Given the description of an element on the screen output the (x, y) to click on. 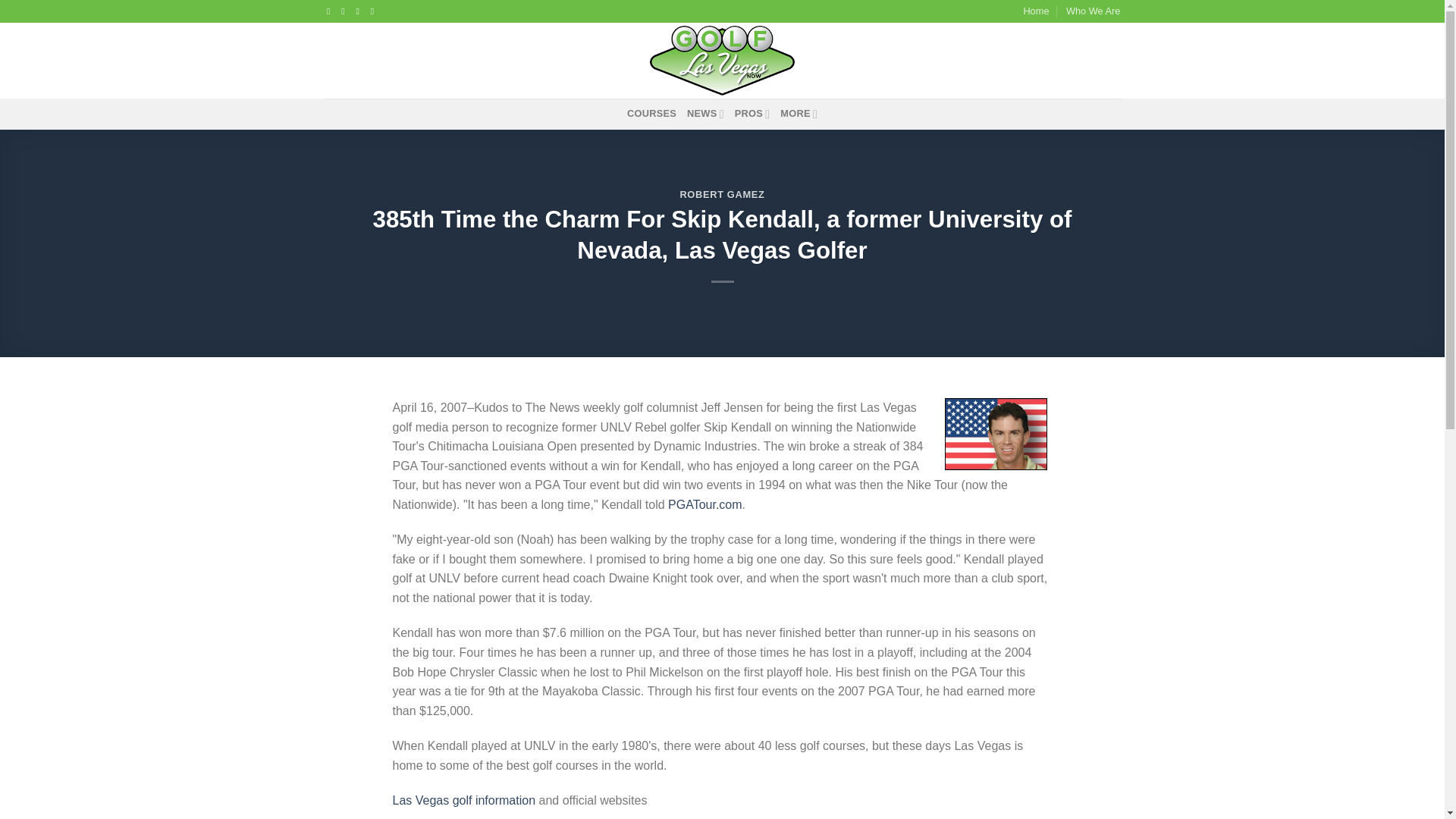
Home (1035, 11)
ROBERT GAMEZ (721, 194)
MORE (798, 113)
Image (995, 434)
COURSES (652, 113)
PGATour.com (705, 504)
Who We Are (1093, 11)
NEWS (705, 113)
PROS (752, 113)
